Given the description of an element on the screen output the (x, y) to click on. 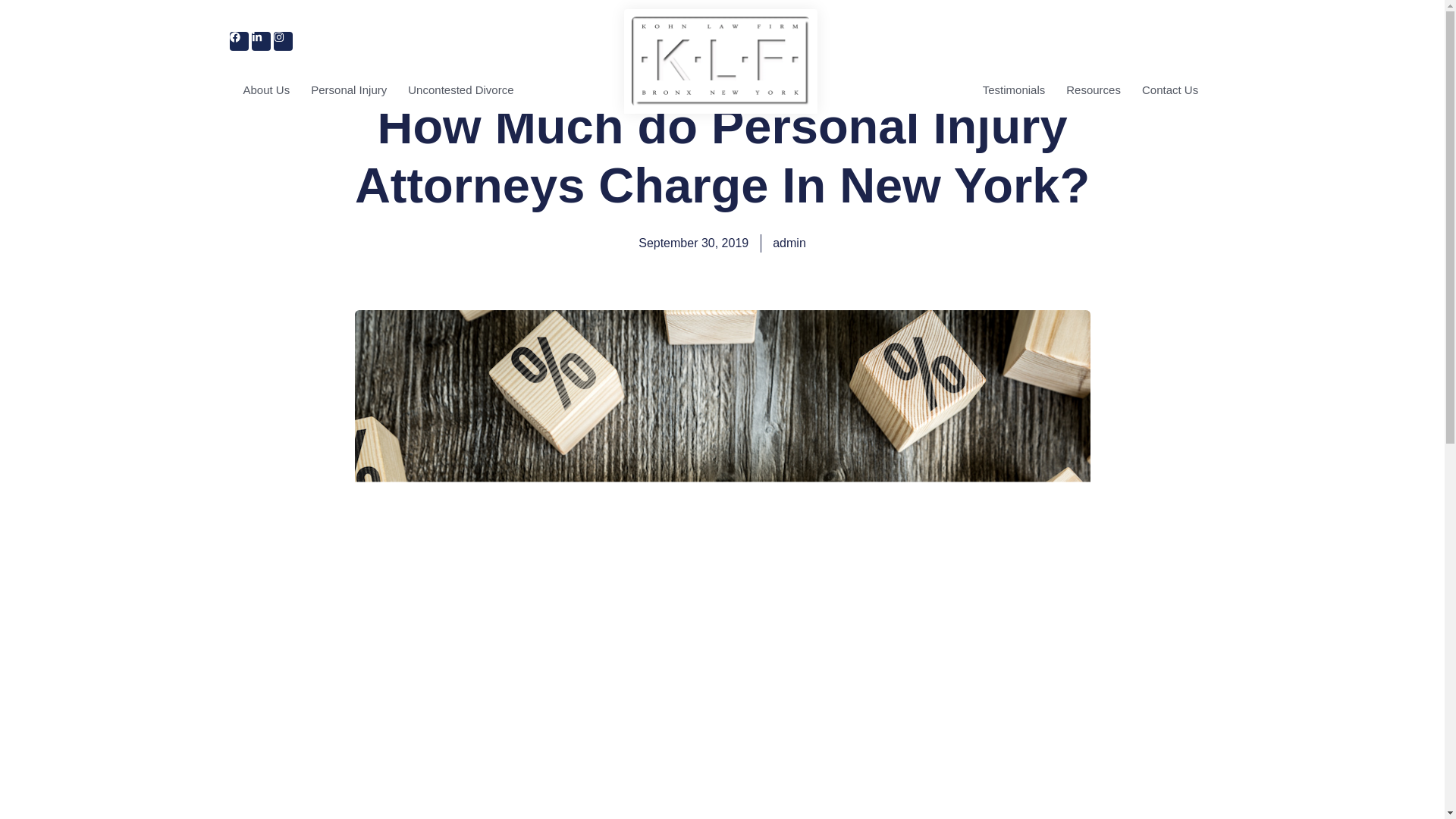
About Us (265, 89)
Uncontested Divorce (460, 89)
Personal Injury (348, 89)
1200 Morris Park Avenue Bronx, New York 10461 (459, 40)
718-409-1200 (1162, 43)
